Given the description of an element on the screen output the (x, y) to click on. 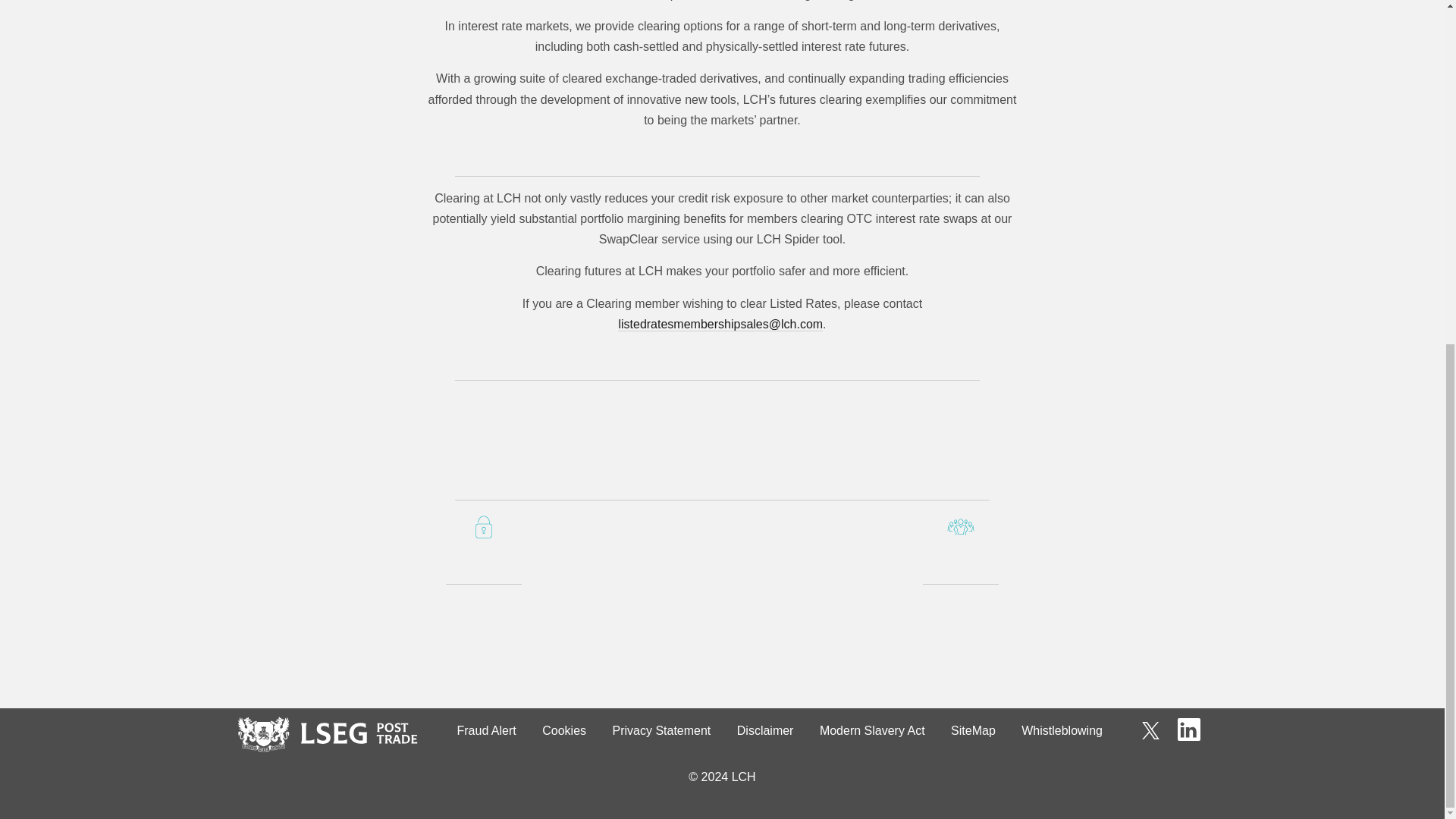
Disclaimer (765, 730)
Fraud Alert (486, 730)
Whistleblowing (1061, 730)
